Given the description of an element on the screen output the (x, y) to click on. 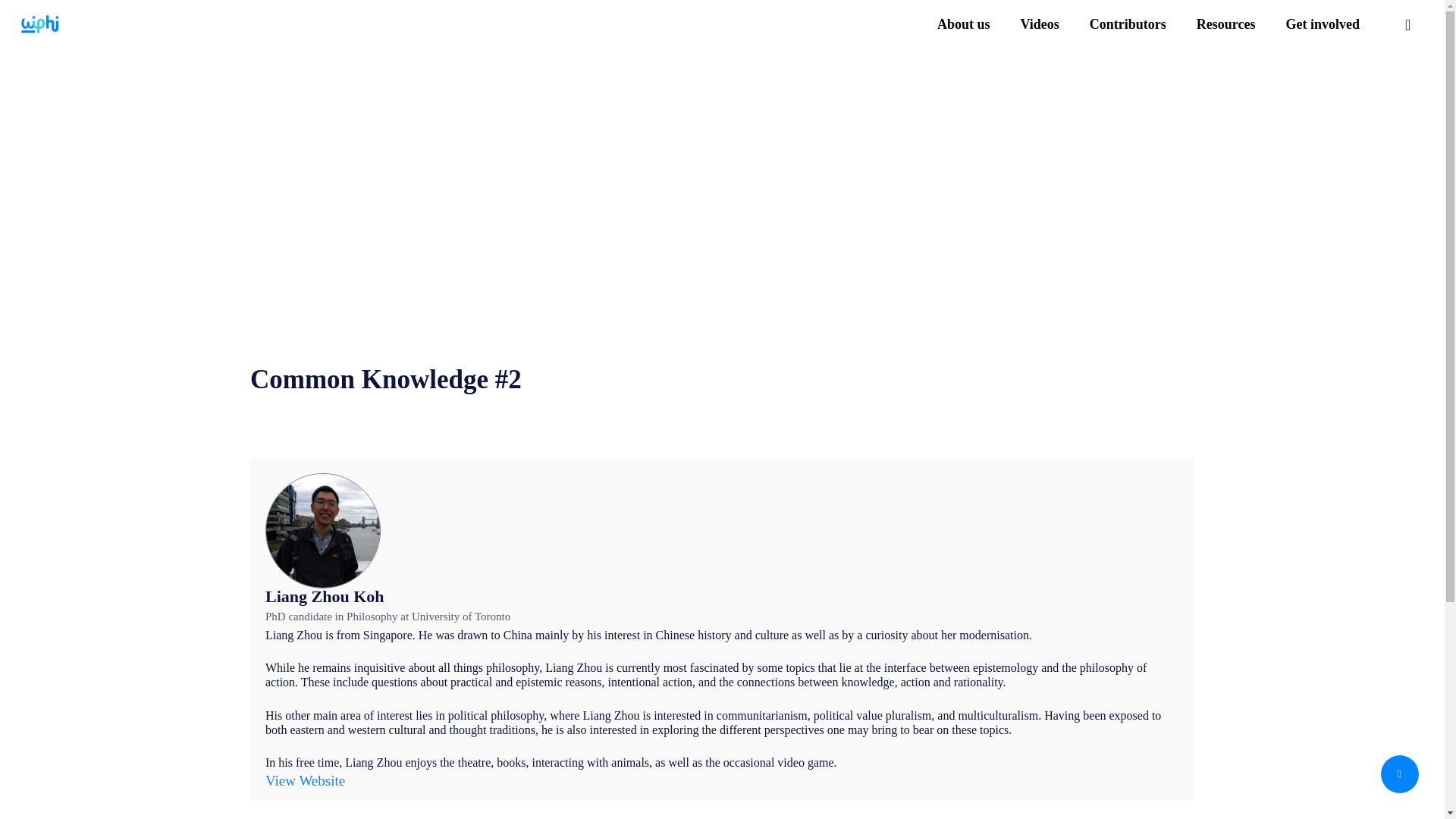
Contributors (1127, 24)
View Website (304, 780)
Videos (1039, 24)
Get involved (1322, 24)
Resources (1225, 24)
About us (963, 24)
Liang Zhou Koh (324, 596)
